Given the description of an element on the screen output the (x, y) to click on. 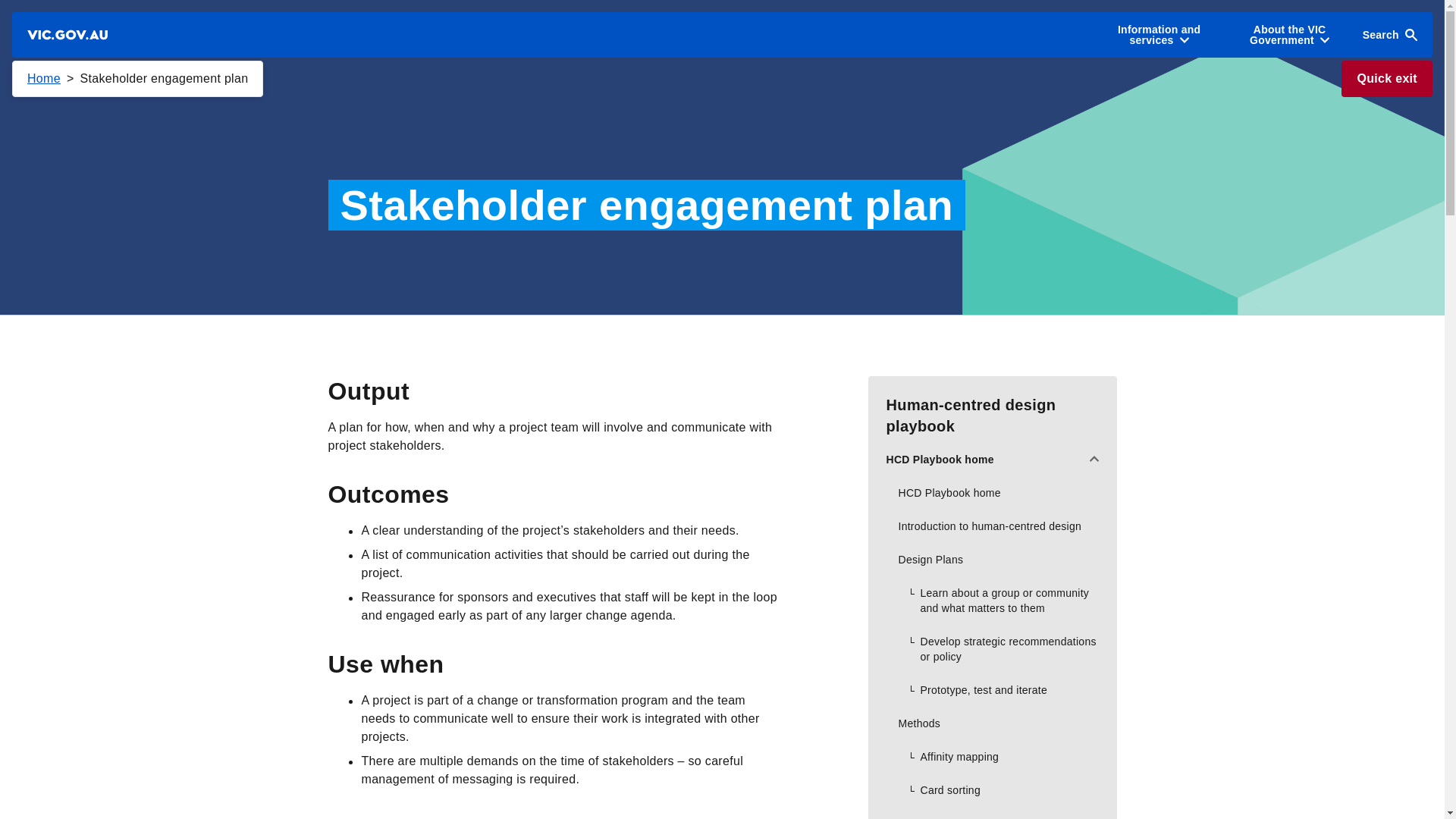
HCD Playbook home (991, 459)
HCD Playbook home (991, 492)
Quick exit (1386, 78)
Introduction to human-centred design (991, 525)
Card sorting (991, 789)
Learn about a group or community and what matters to them (991, 600)
Co-design (991, 812)
Home (44, 78)
Develop strategic recommendations or policy (991, 648)
Affinity mapping (991, 756)
Prototype, test and iterate (991, 689)
Methods (991, 723)
Design Plans (991, 559)
